Given the description of an element on the screen output the (x, y) to click on. 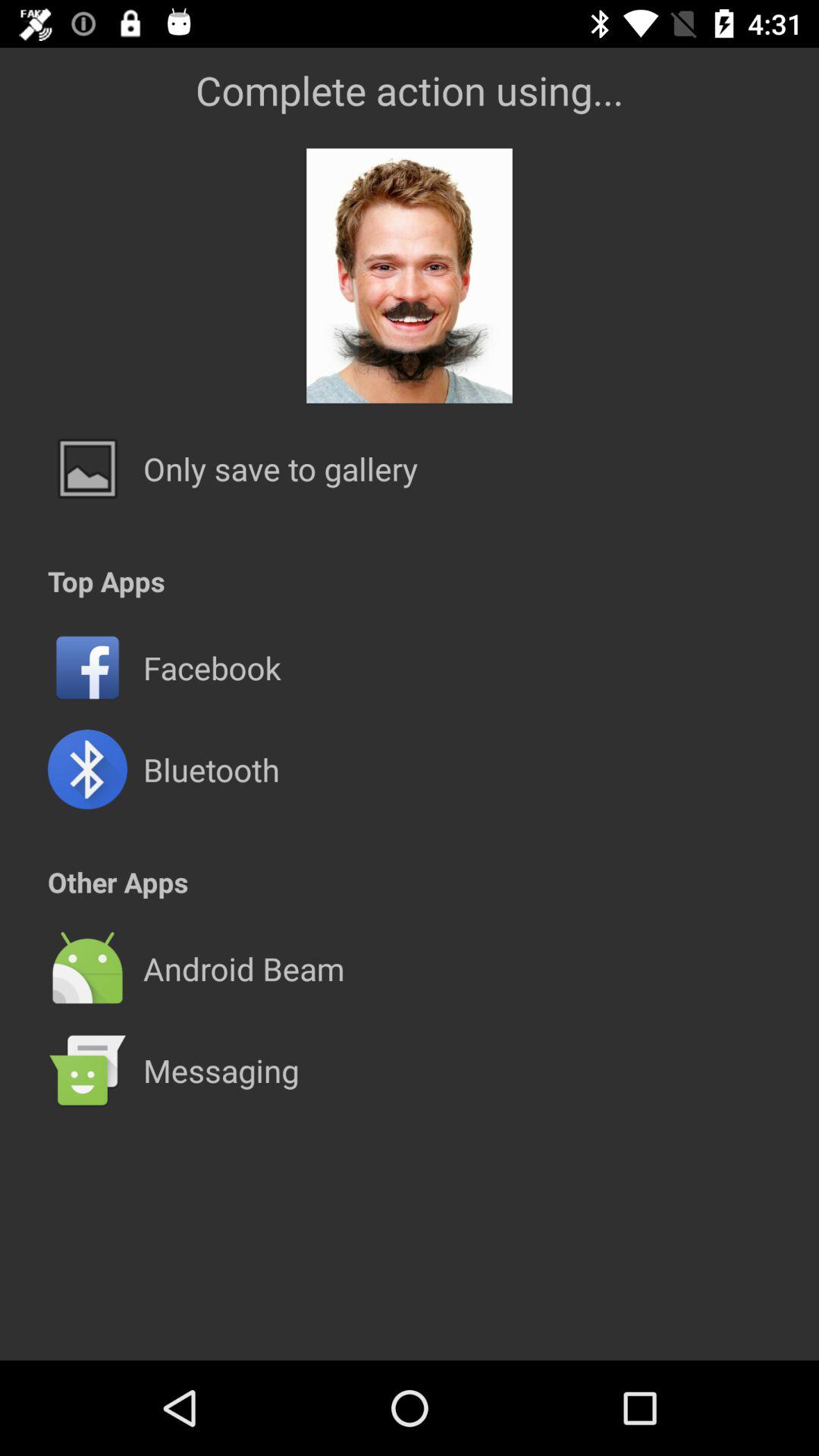
choose android beam icon (243, 968)
